Given the description of an element on the screen output the (x, y) to click on. 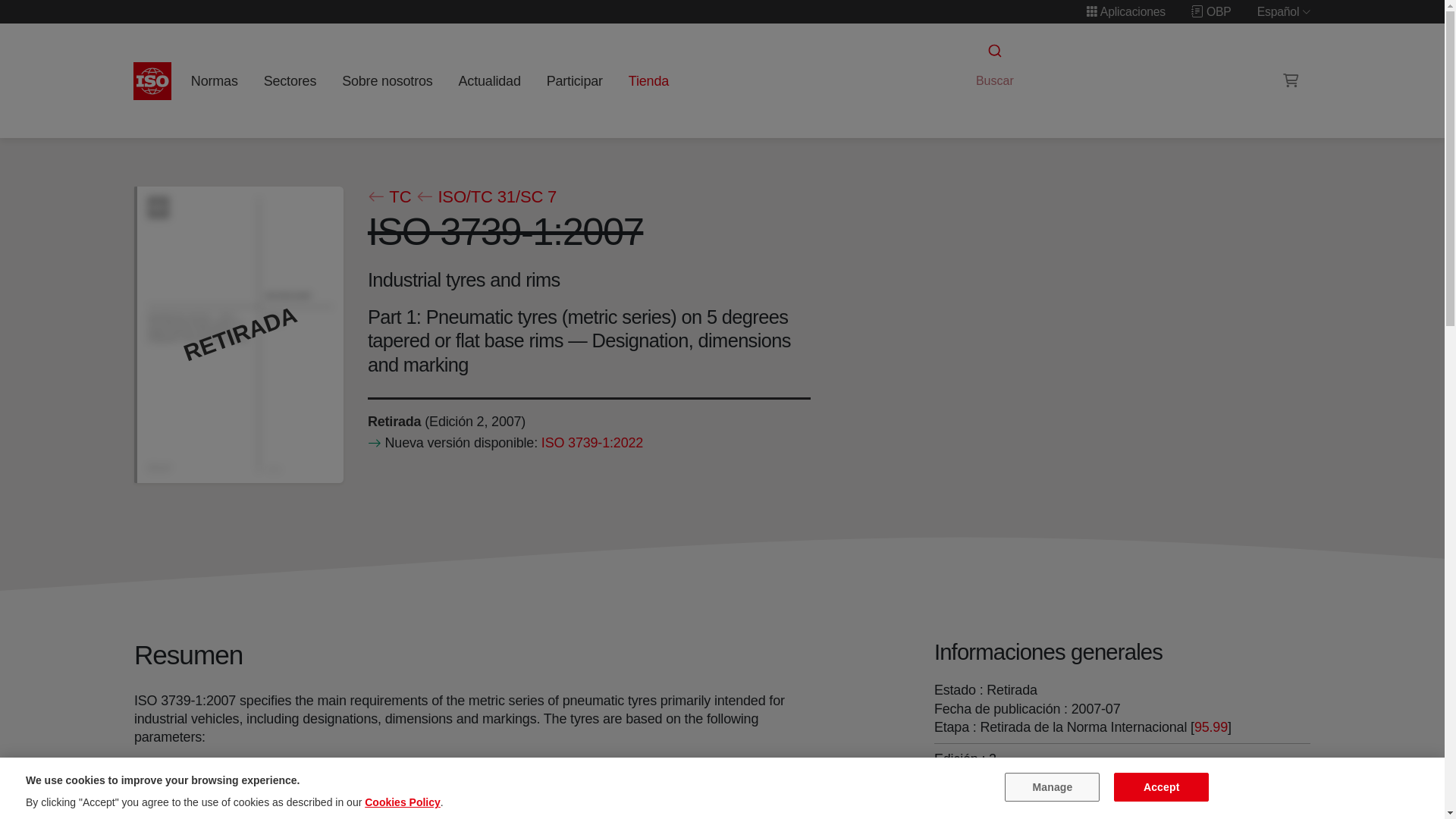
Portal de aplicaciones de ISO (1126, 11)
Normas (214, 80)
Industrial tyres and rims (1086, 809)
 OBP (1211, 11)
Ciclo de vida (393, 420)
Actualidad (489, 80)
Sobre nosotros (387, 80)
Sectores (290, 80)
ISO 3739-1:2022 (591, 442)
Carro de la compra (1290, 80)
Submit (993, 51)
95.99 (1210, 726)
95.99 (1210, 726)
